Given the description of an element on the screen output the (x, y) to click on. 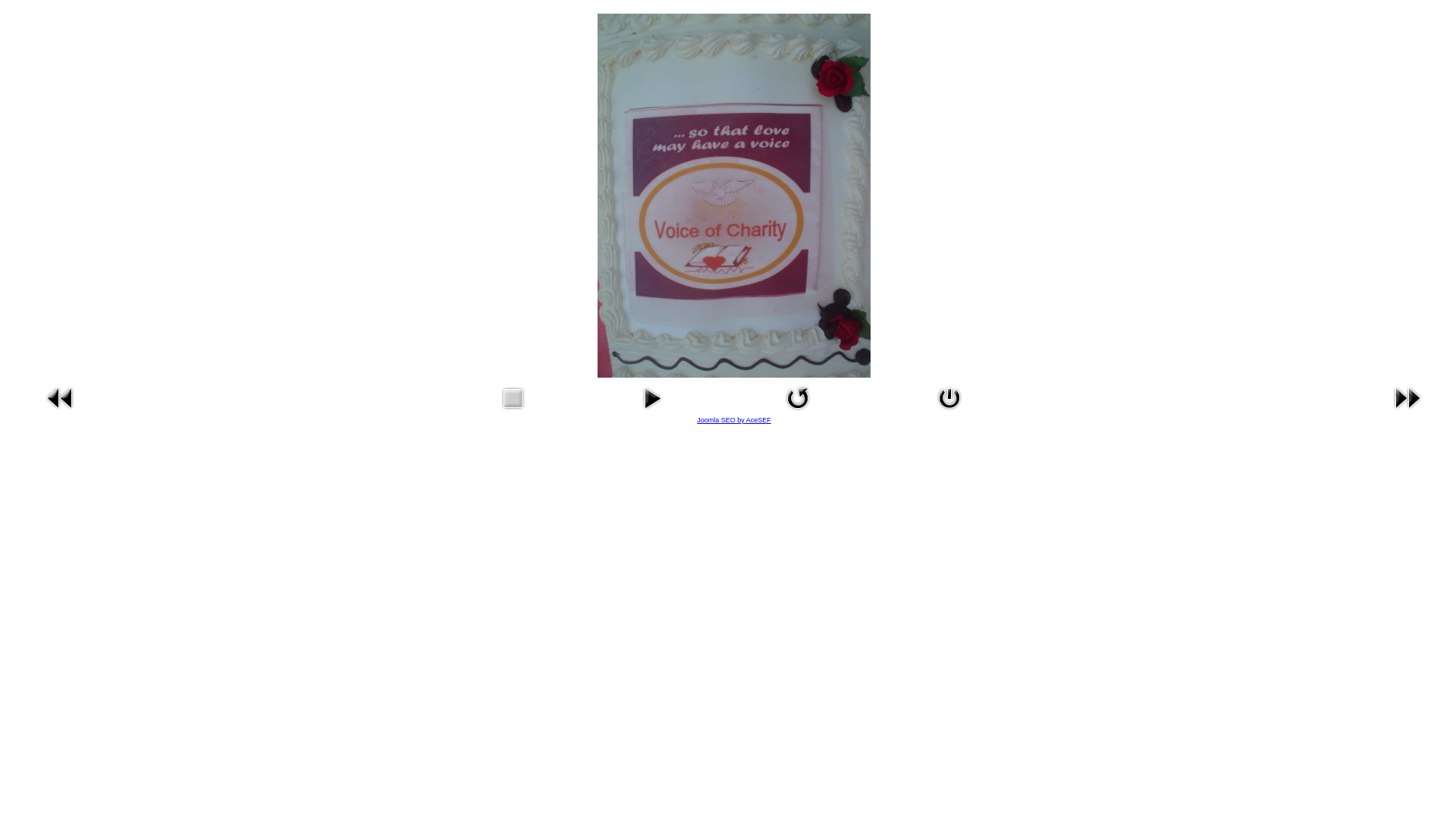
Close Window Element type: hover (949, 412)
Next Image Element type: hover (1407, 412)
Joomla SEO by AceSEF Element type: text (733, 419)
Previous Image Element type: hover (60, 412)
Start Slideshow Element type: hover (651, 412)
Refresh Element type: hover (797, 412)
